Given the description of an element on the screen output the (x, y) to click on. 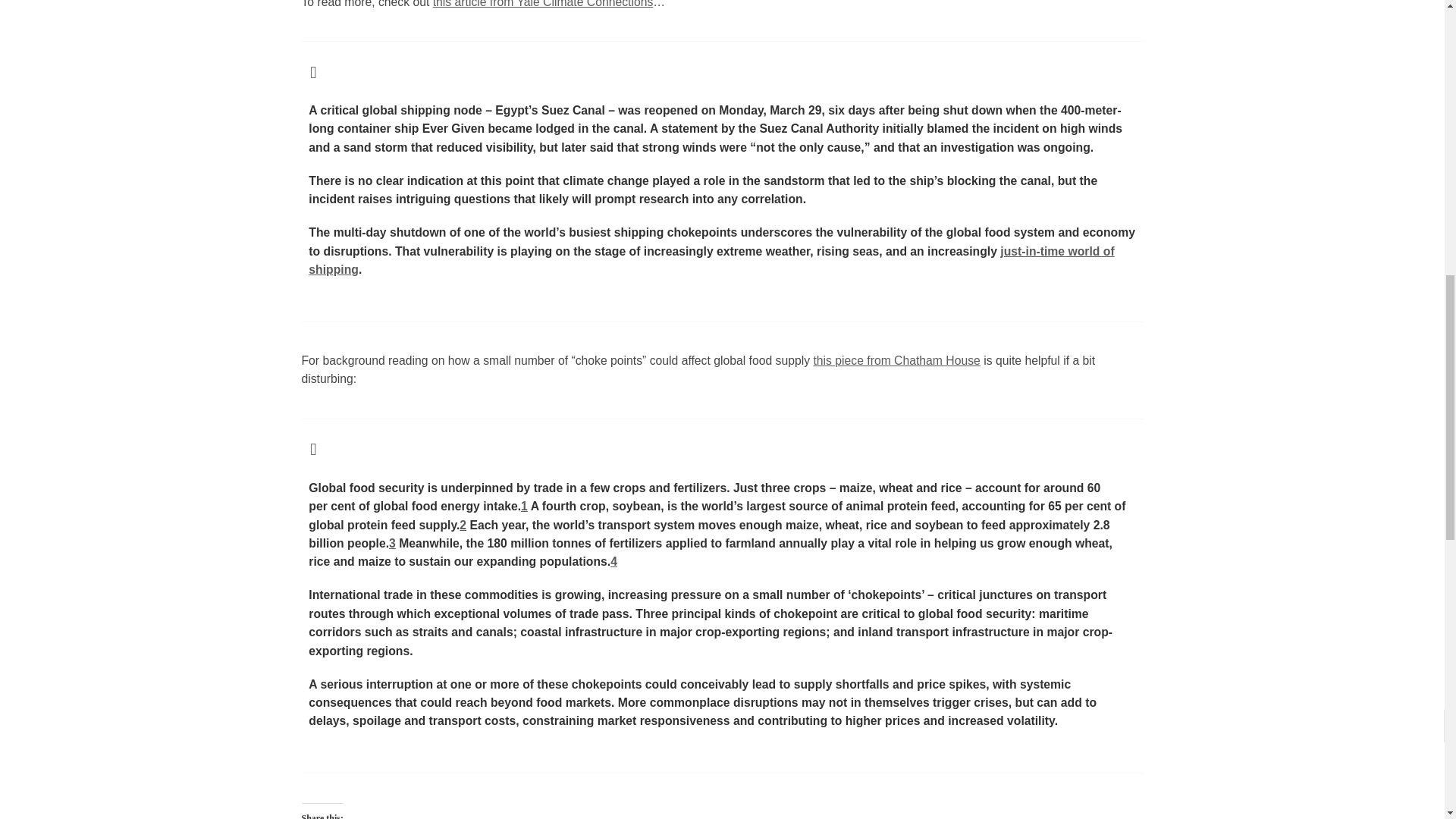
4 (613, 561)
this article from Yale Climate Connections (542, 4)
2 (462, 524)
1 (524, 505)
just-in-time world of shipping (710, 260)
this piece from Chatham House (895, 359)
3 (392, 543)
